Given the description of an element on the screen output the (x, y) to click on. 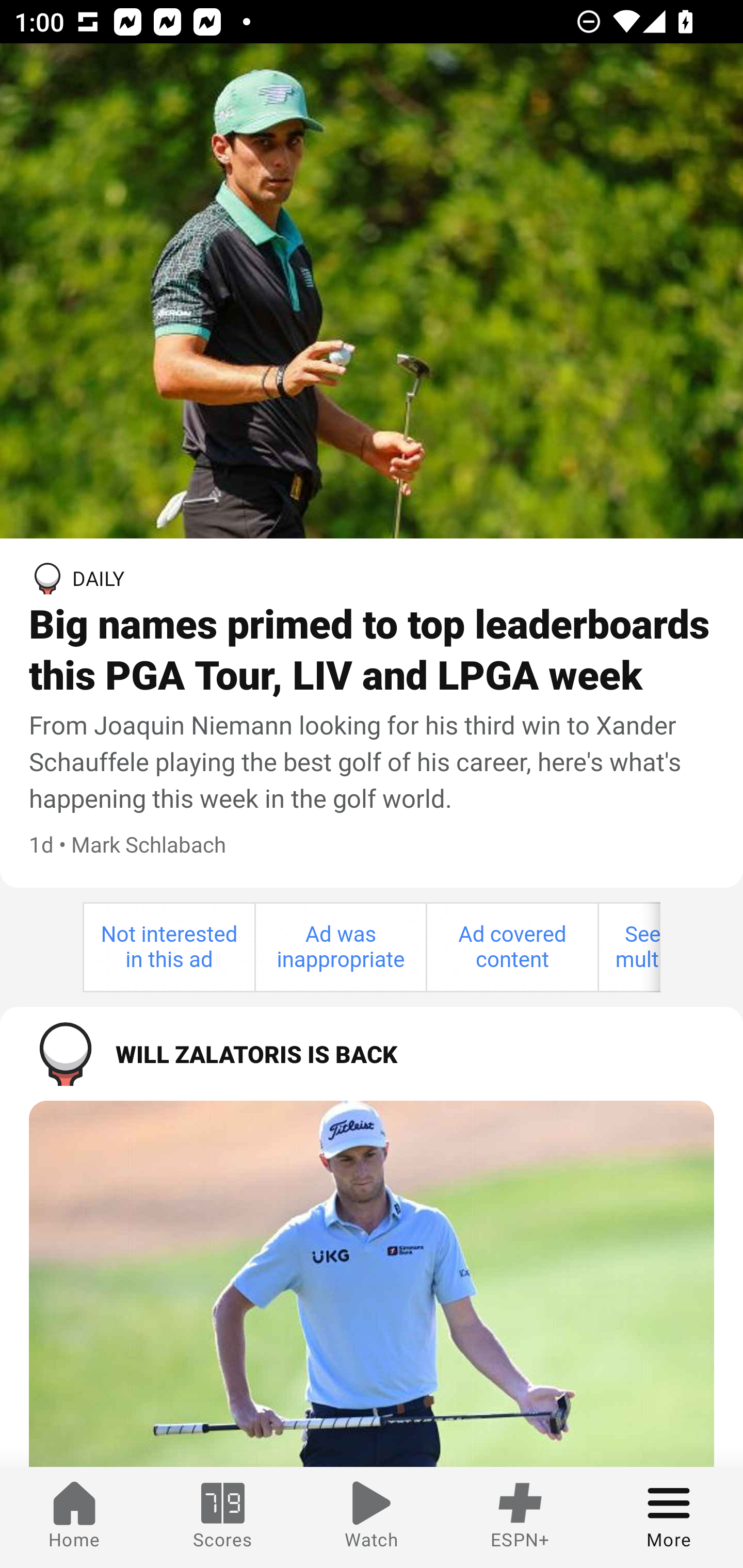
WILL ZALATORIS IS BACK (371, 1053)
Home (74, 1517)
Scores (222, 1517)
Watch (371, 1517)
ESPN+ (519, 1517)
